Given the description of an element on the screen output the (x, y) to click on. 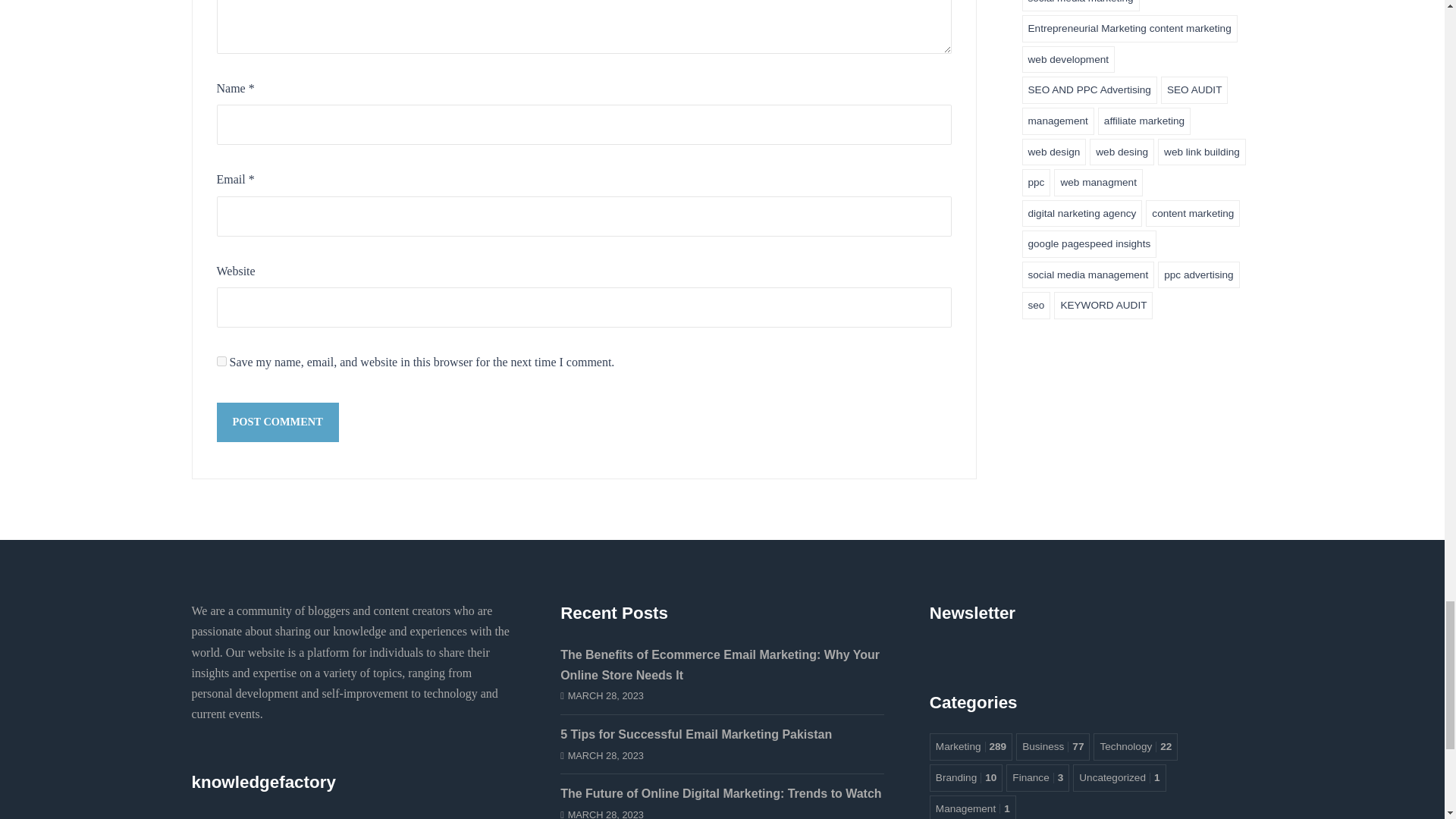
knowledgefactory (274, 816)
Post Comment (277, 422)
yes (221, 361)
